Given the description of an element on the screen output the (x, y) to click on. 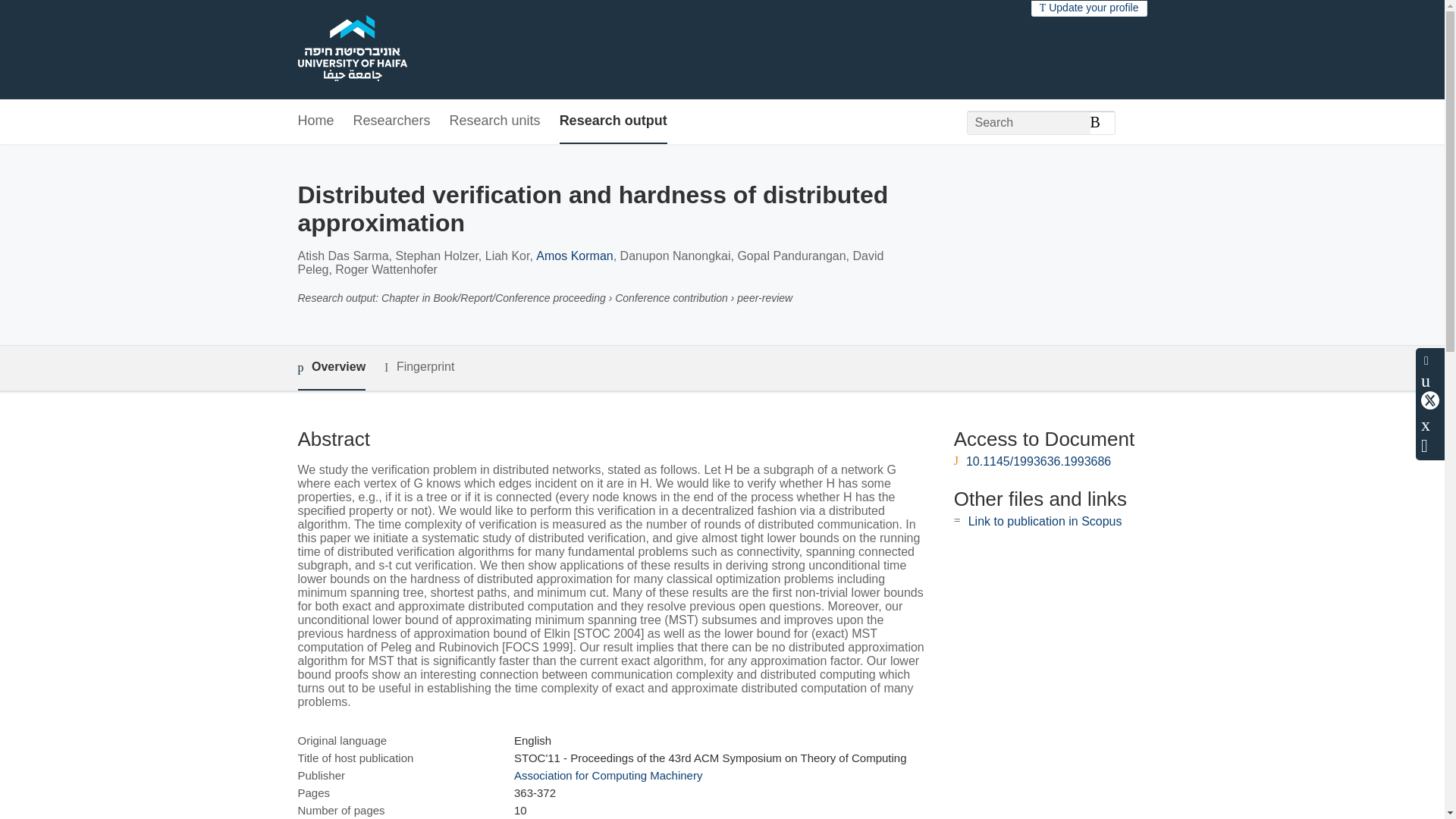
Link to publication in Scopus (1045, 521)
Researchers (391, 121)
Overview (331, 367)
University of Haifa Home (351, 49)
Amos Korman (573, 255)
Research output (612, 121)
Update your profile (1089, 7)
Association for Computing Machinery (607, 775)
Home (315, 121)
Fingerprint (419, 367)
Research units (494, 121)
